Given the description of an element on the screen output the (x, y) to click on. 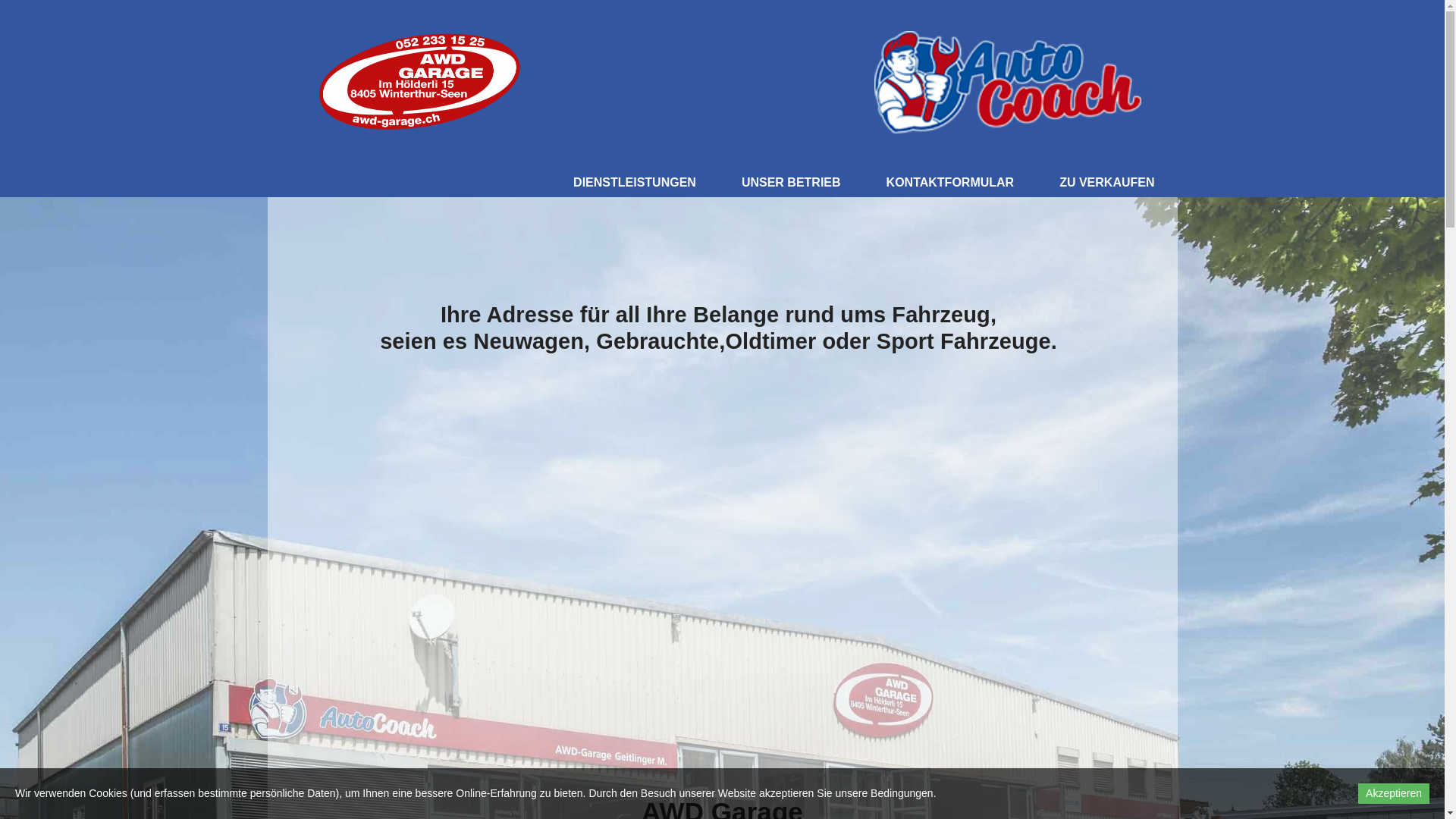
DIENSTLEISTUNGEN Element type: text (634, 182)
Akzeptieren Element type: text (1393, 793)
UNSER BETRIEB Element type: text (790, 182)
KONTAKTFORMULAR Element type: text (950, 182)
ZU VERKAUFEN Element type: text (1106, 182)
